Given the description of an element on the screen output the (x, y) to click on. 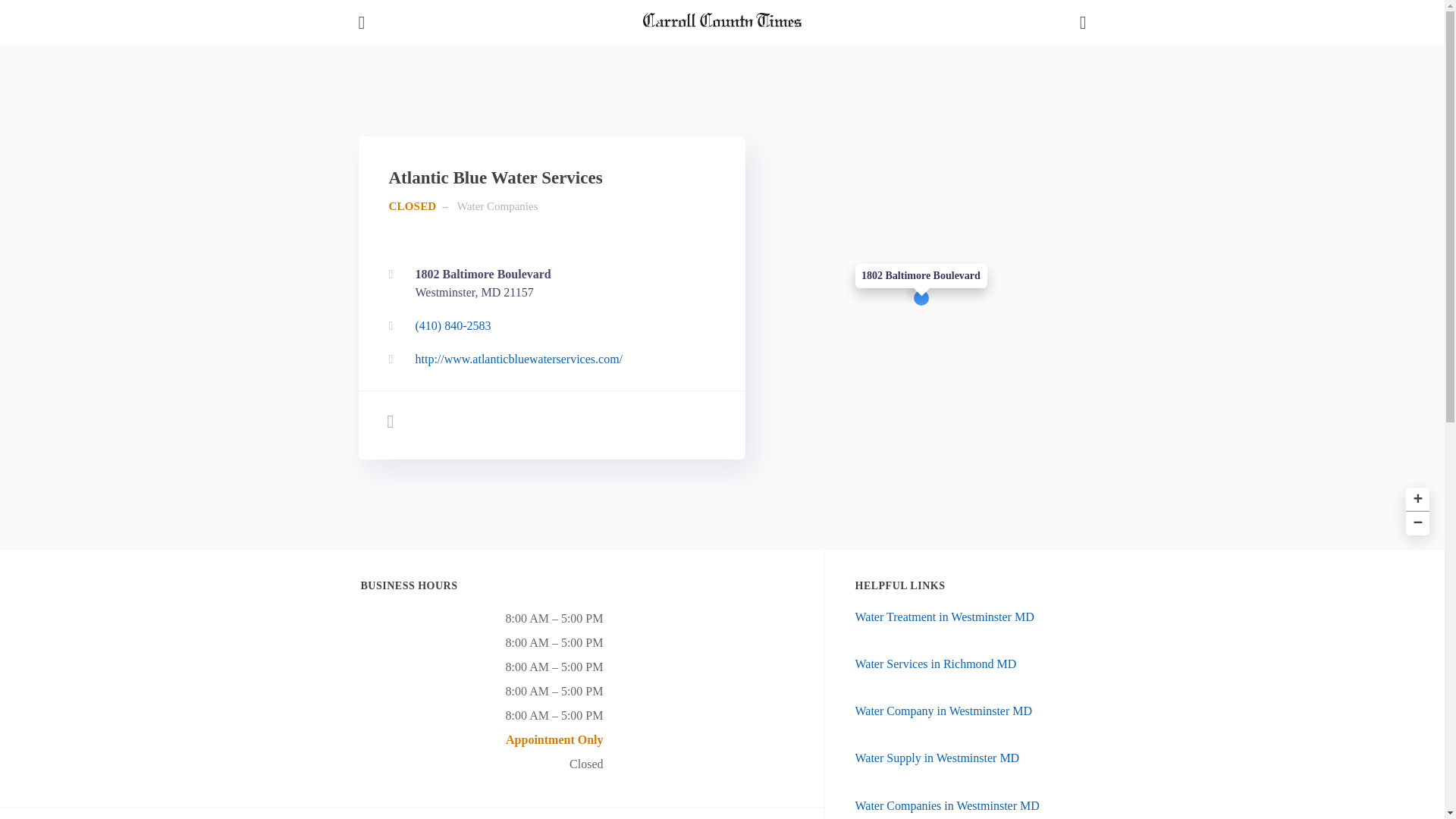
Water Companies (497, 205)
Water Supply in Westminster MD (938, 757)
Open website in a new tab (547, 359)
Call Phone Number (547, 326)
Zoom in (1415, 496)
Water Services in Richmond MD (547, 283)
Water Treatment in Westminster MD (936, 663)
Water Companies in Westminster MD (944, 616)
Water Company in Westminster MD (947, 805)
